Given the description of an element on the screen output the (x, y) to click on. 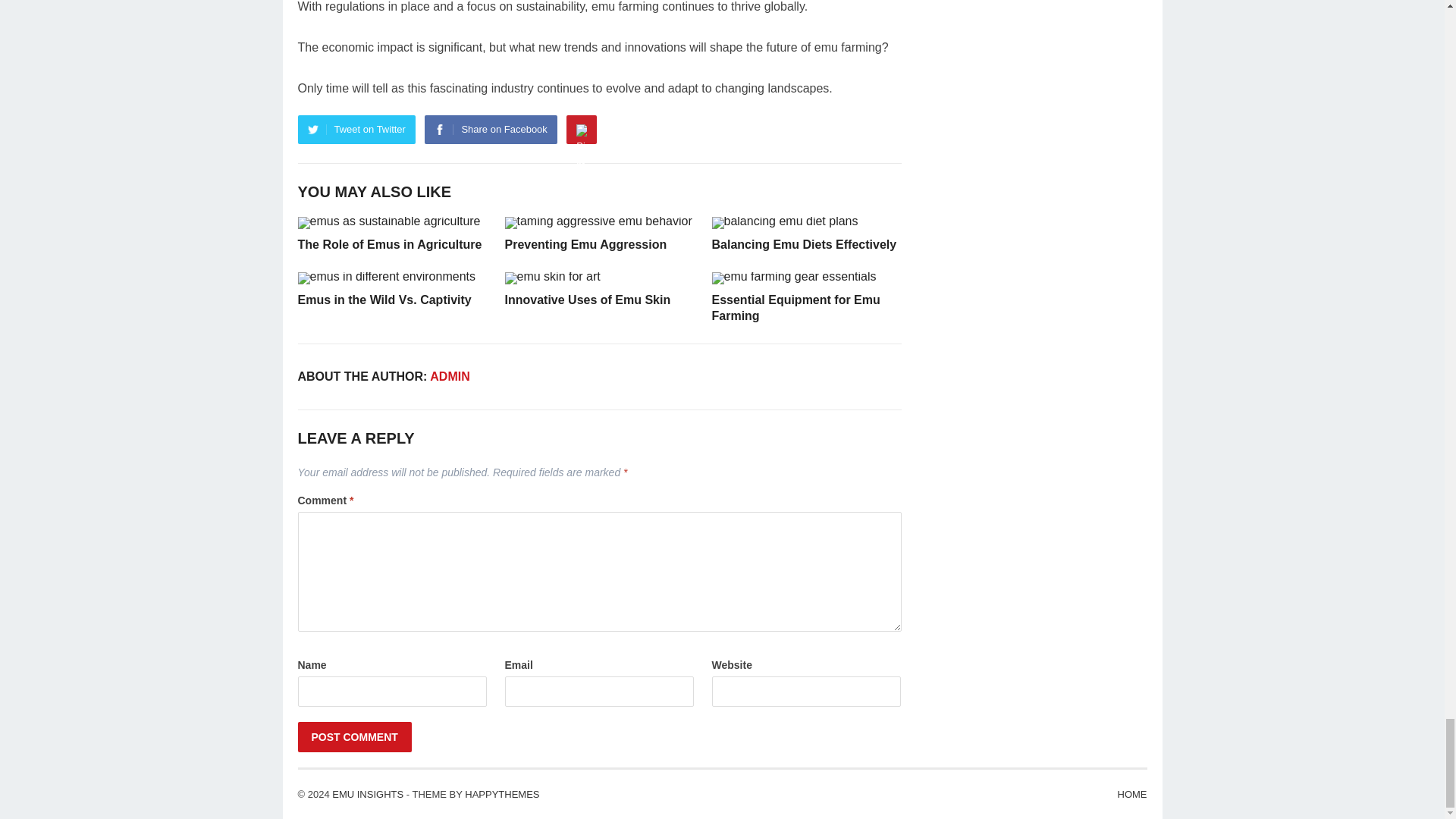
Share on Facebook (490, 129)
Post Comment (353, 736)
ADMIN (448, 376)
Essential Equipment for Emu Farming (795, 307)
Tweet on Twitter (355, 129)
Post Comment (353, 736)
The Role of Emus in Agriculture (389, 244)
Innovative Uses of Emu Skin (588, 299)
Emus in the Wild Vs. Captivity (383, 299)
Pinterest (581, 129)
Balancing Emu Diets Effectively (803, 244)
Preventing Emu Aggression (585, 244)
